Given the description of an element on the screen output the (x, y) to click on. 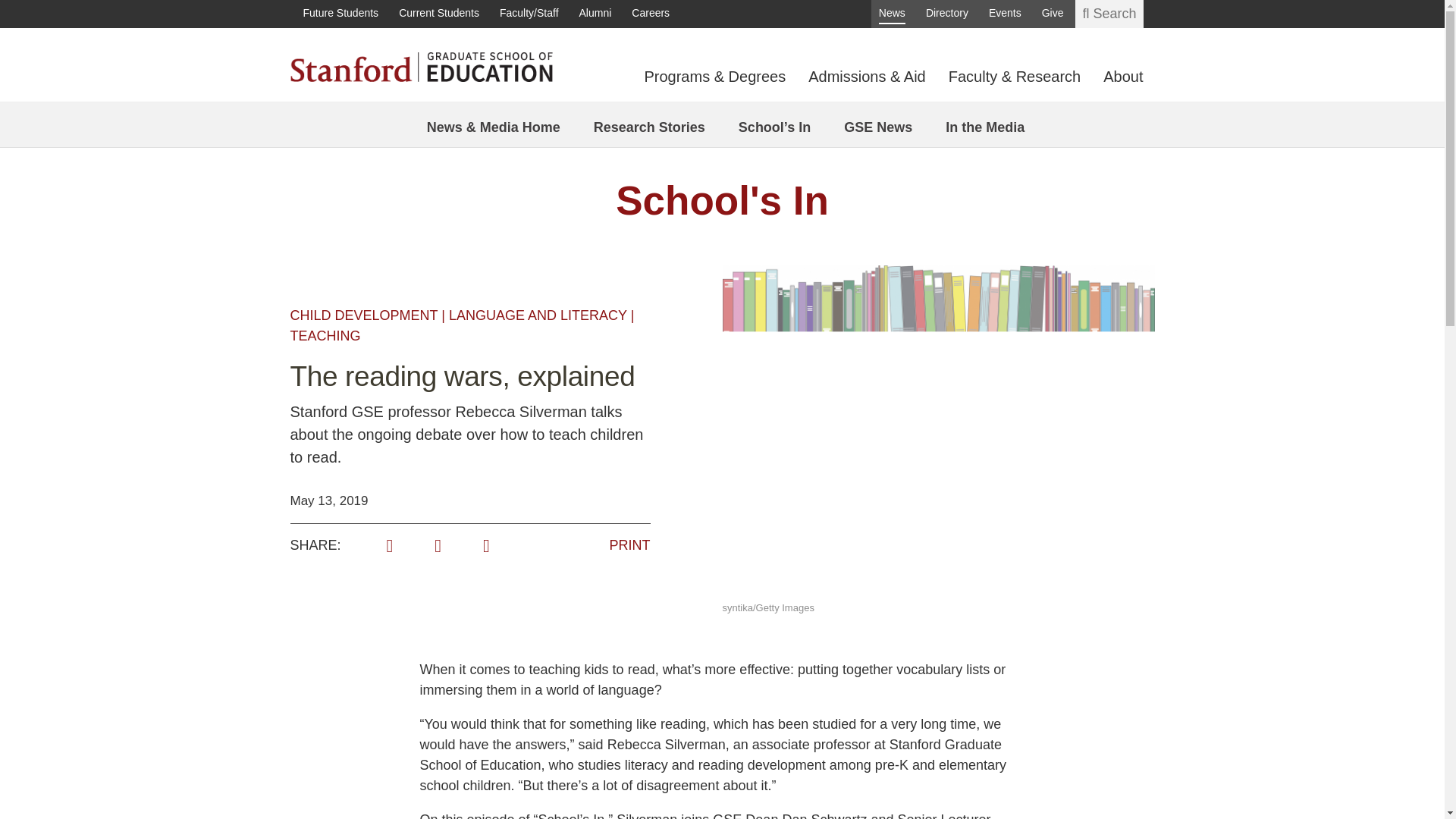
Alumni (595, 14)
In the Media (984, 127)
CHILD DEVELOPMENT (363, 314)
Research Stories (649, 127)
Future Students (340, 14)
Give (1053, 14)
TEACHING (324, 335)
News (892, 14)
LANGUAGE AND LITERACY (537, 314)
Directory (947, 14)
